Given the description of an element on the screen output the (x, y) to click on. 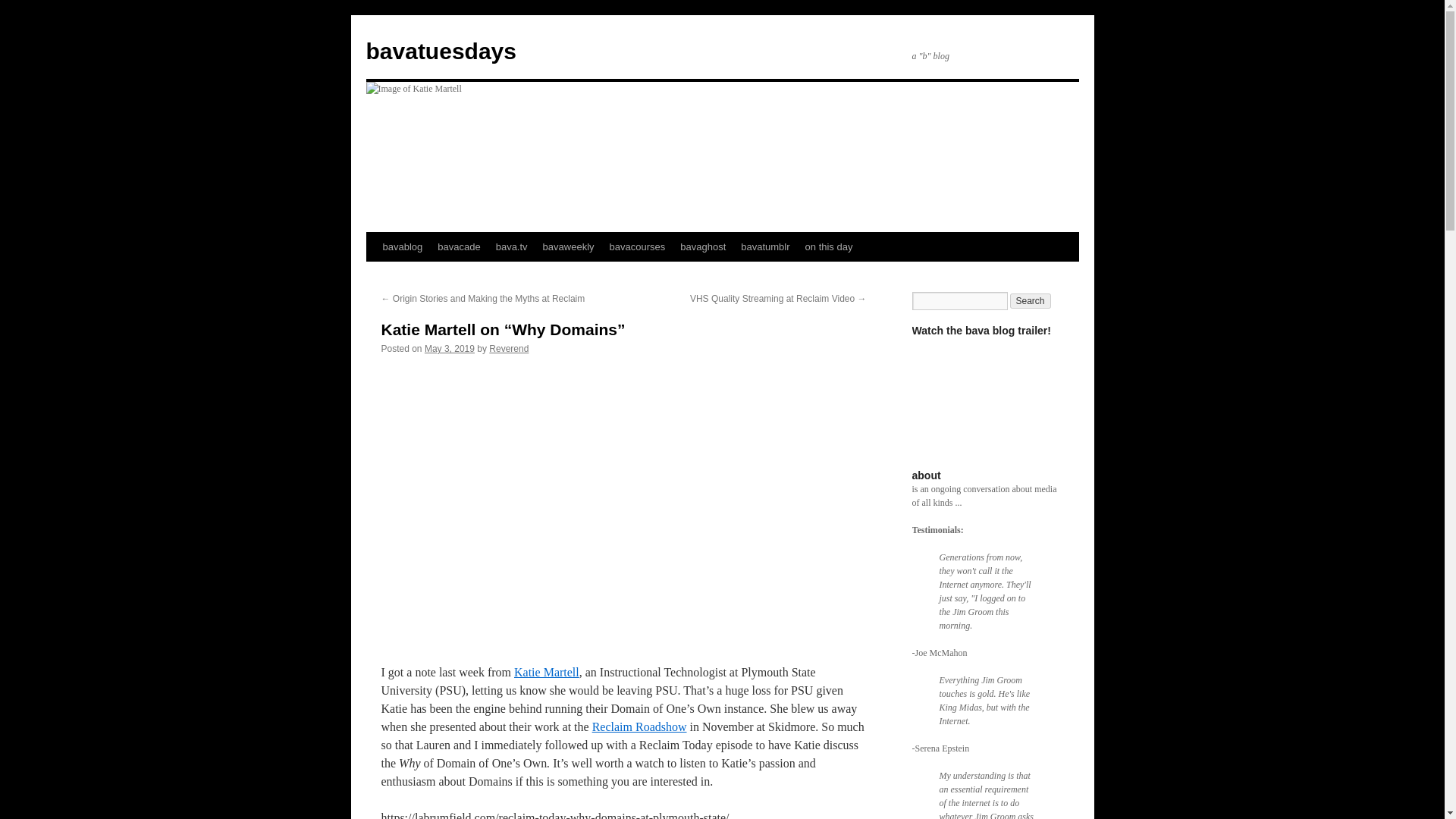
bavatumblr (764, 246)
bava.tv (511, 246)
bavaghost (702, 246)
bavablog (401, 246)
on this day (828, 246)
bavacourses (637, 246)
Search (1030, 300)
Reclaim Roadshow (639, 726)
bavacade (458, 246)
bavaweekly (568, 246)
